Given the description of an element on the screen output the (x, y) to click on. 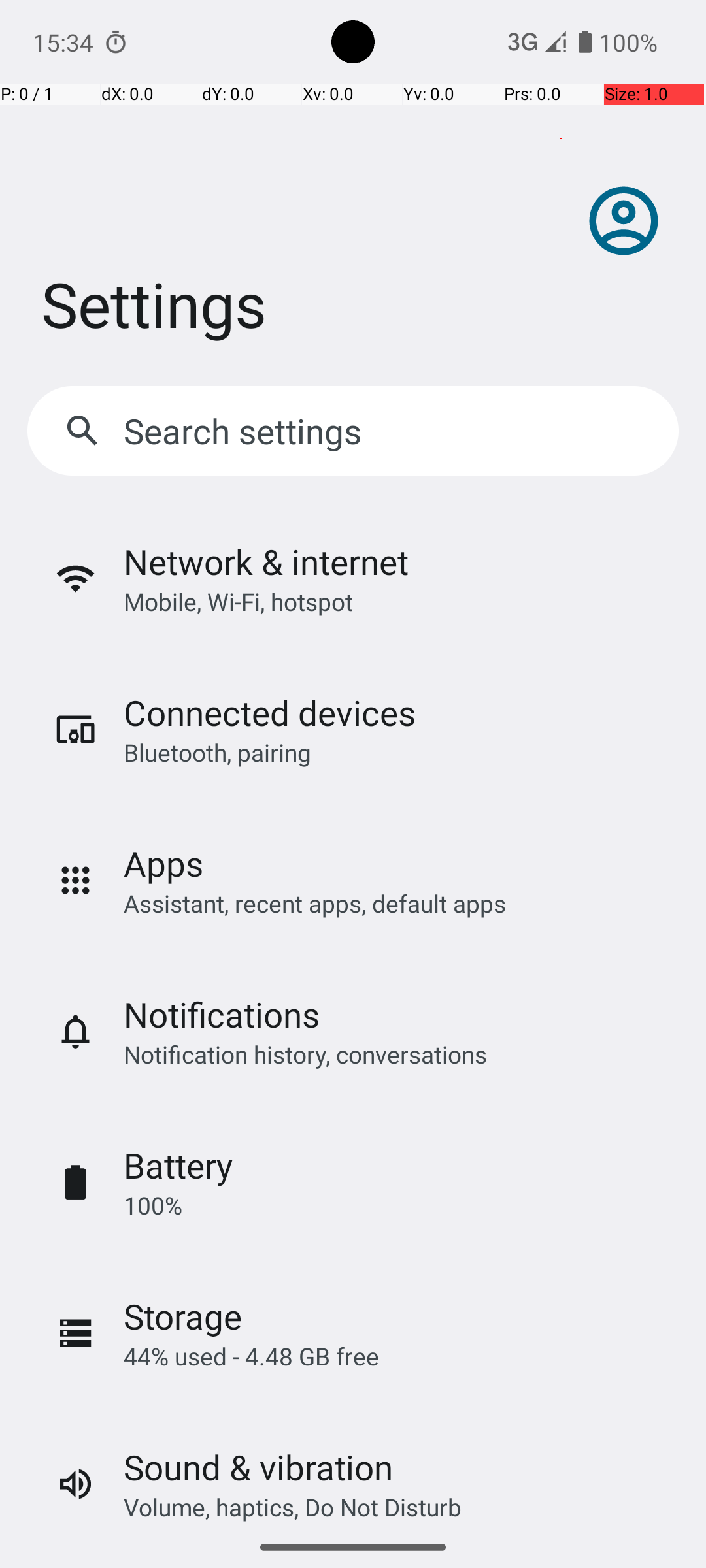
Profile picture, double tap to open Google Account Element type: android.widget.ImageView (623, 220)
Search settings Element type: android.widget.TextView (245, 430)
Network & internet Element type: android.widget.TextView (265, 561)
Mobile, Wi‑Fi, hotspot Element type: android.widget.TextView (238, 601)
Connected devices Element type: android.widget.TextView (269, 712)
Bluetooth, pairing Element type: android.widget.TextView (217, 751)
Apps Element type: android.widget.TextView (163, 863)
Assistant, recent apps, default apps Element type: android.widget.TextView (314, 902)
Notification history, conversations Element type: android.widget.TextView (305, 1053)
Battery Element type: android.widget.TextView (178, 1165)
100% Element type: android.widget.TextView (152, 1204)
Storage Element type: android.widget.TextView (182, 1315)
44% used - 4.48 GB free Element type: android.widget.TextView (251, 1355)
Sound & vibration Element type: android.widget.TextView (257, 1466)
Volume, haptics, Do Not Disturb Element type: android.widget.TextView (292, 1506)
